Given the description of an element on the screen output the (x, y) to click on. 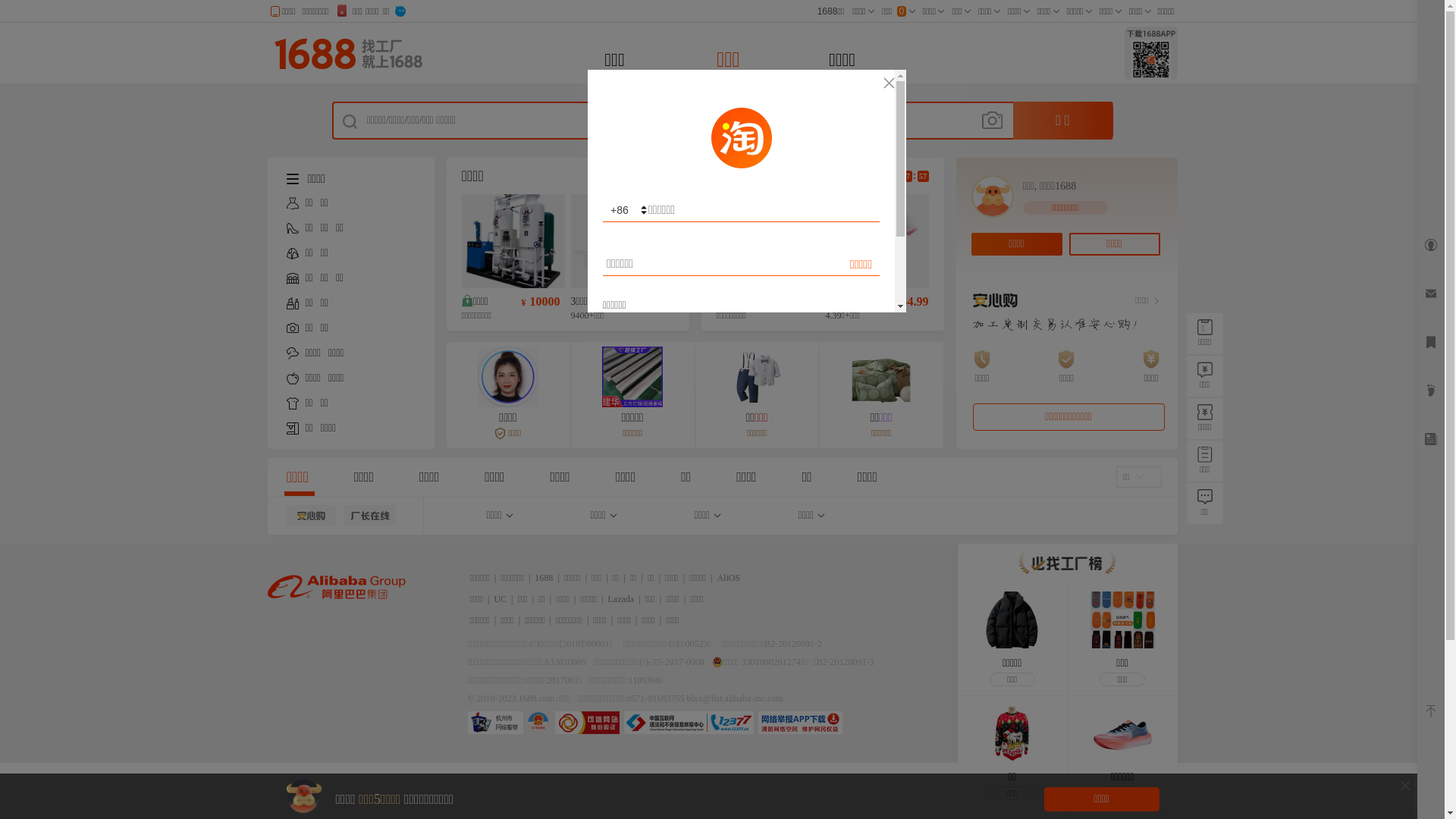
UC Element type: text (499, 598)
Lazada Element type: text (621, 598)
AliOS Element type: text (728, 577)
1688 Element type: text (543, 577)
